Given the description of an element on the screen output the (x, y) to click on. 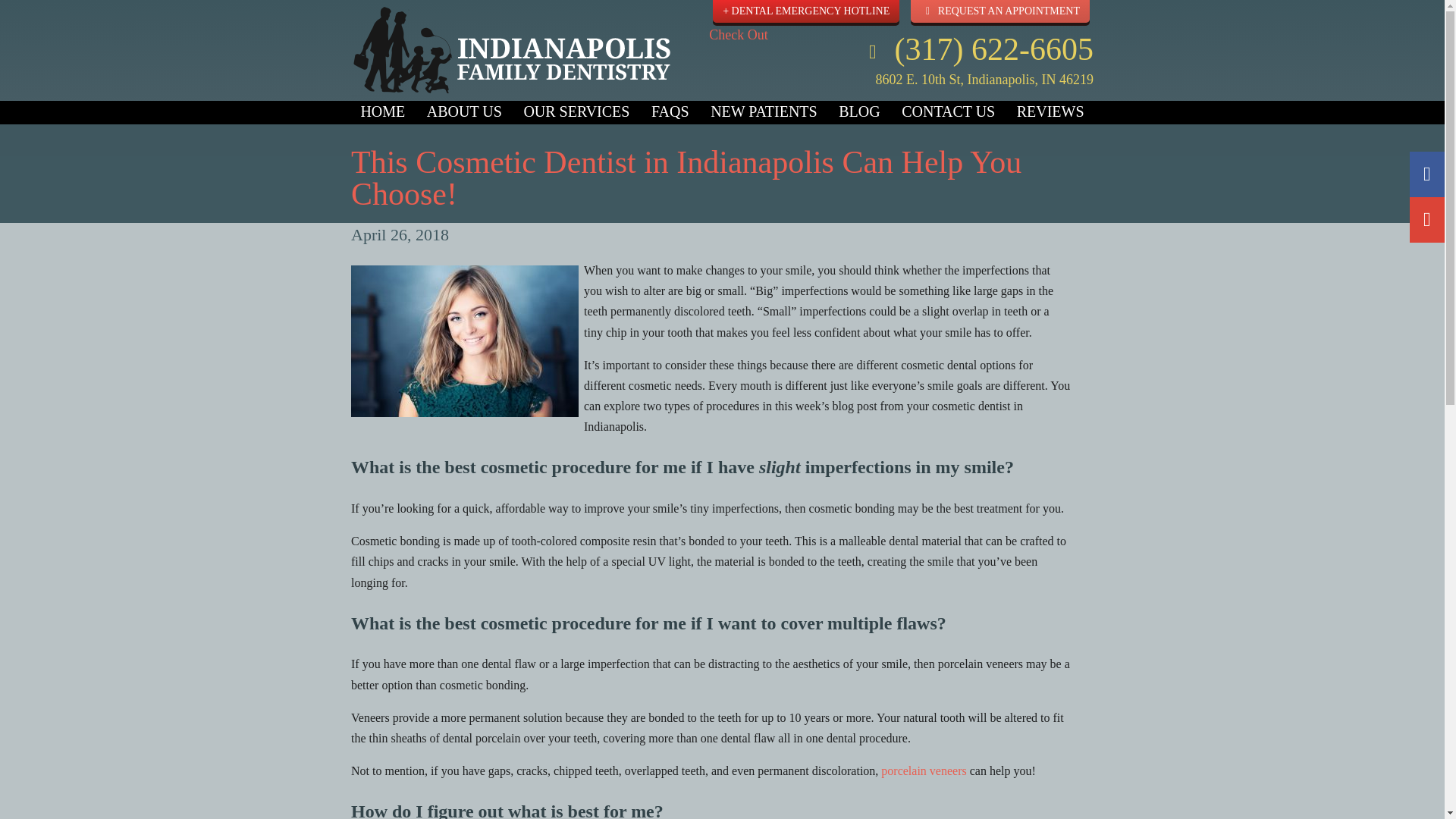
ABOUT US (464, 111)
REQUEST AN APPOINTMENT (1000, 11)
Check Out (901, 44)
HOME (381, 111)
OUR SERVICES (576, 111)
